Given the description of an element on the screen output the (x, y) to click on. 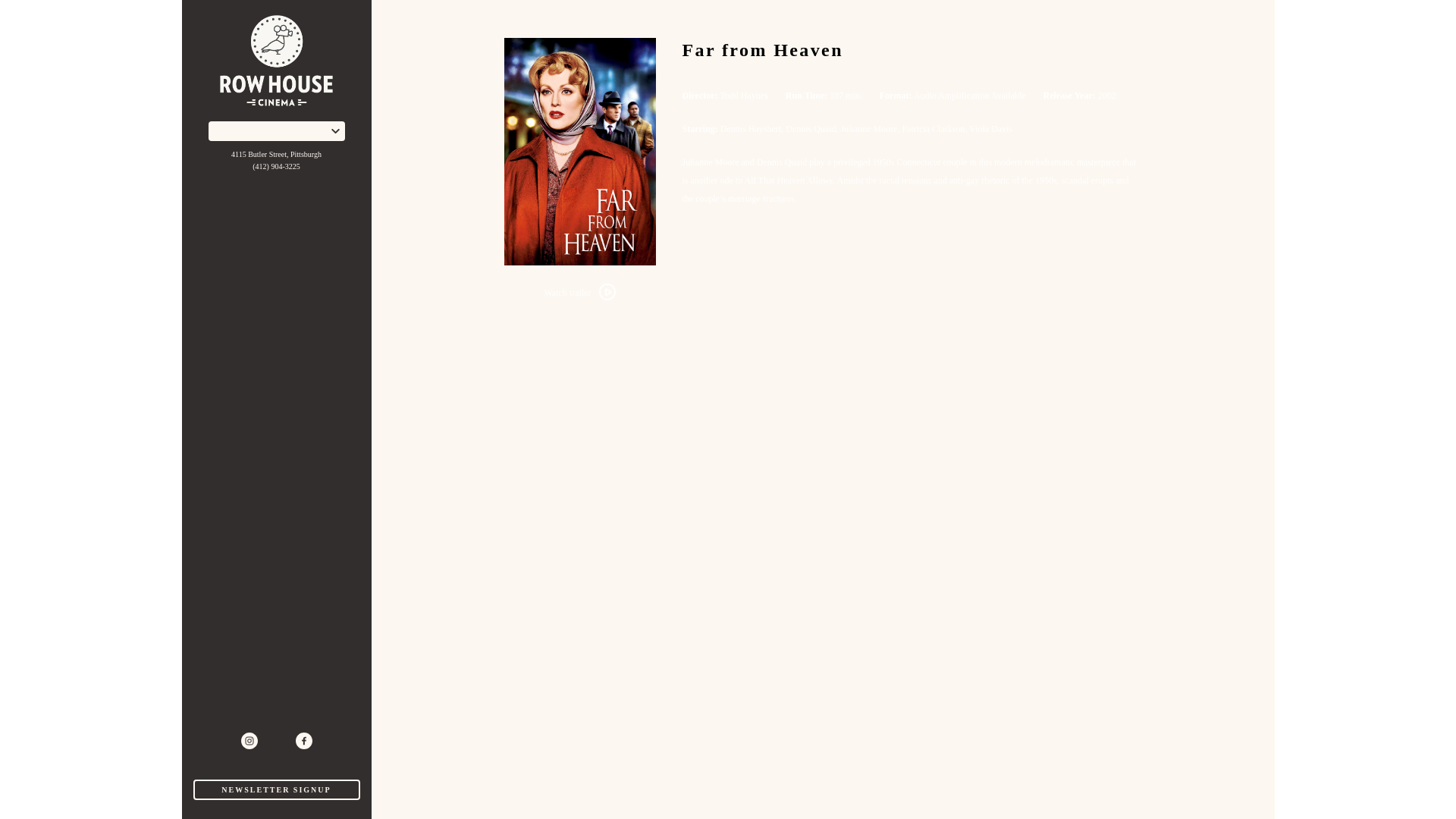
facebook (304, 740)
twitter (276, 740)
instagram (249, 740)
Watch trailer (579, 292)
4115 Butler Street, Pittsburgh (276, 154)
NEWSLETTER SIGNUP (275, 789)
